Given the description of an element on the screen output the (x, y) to click on. 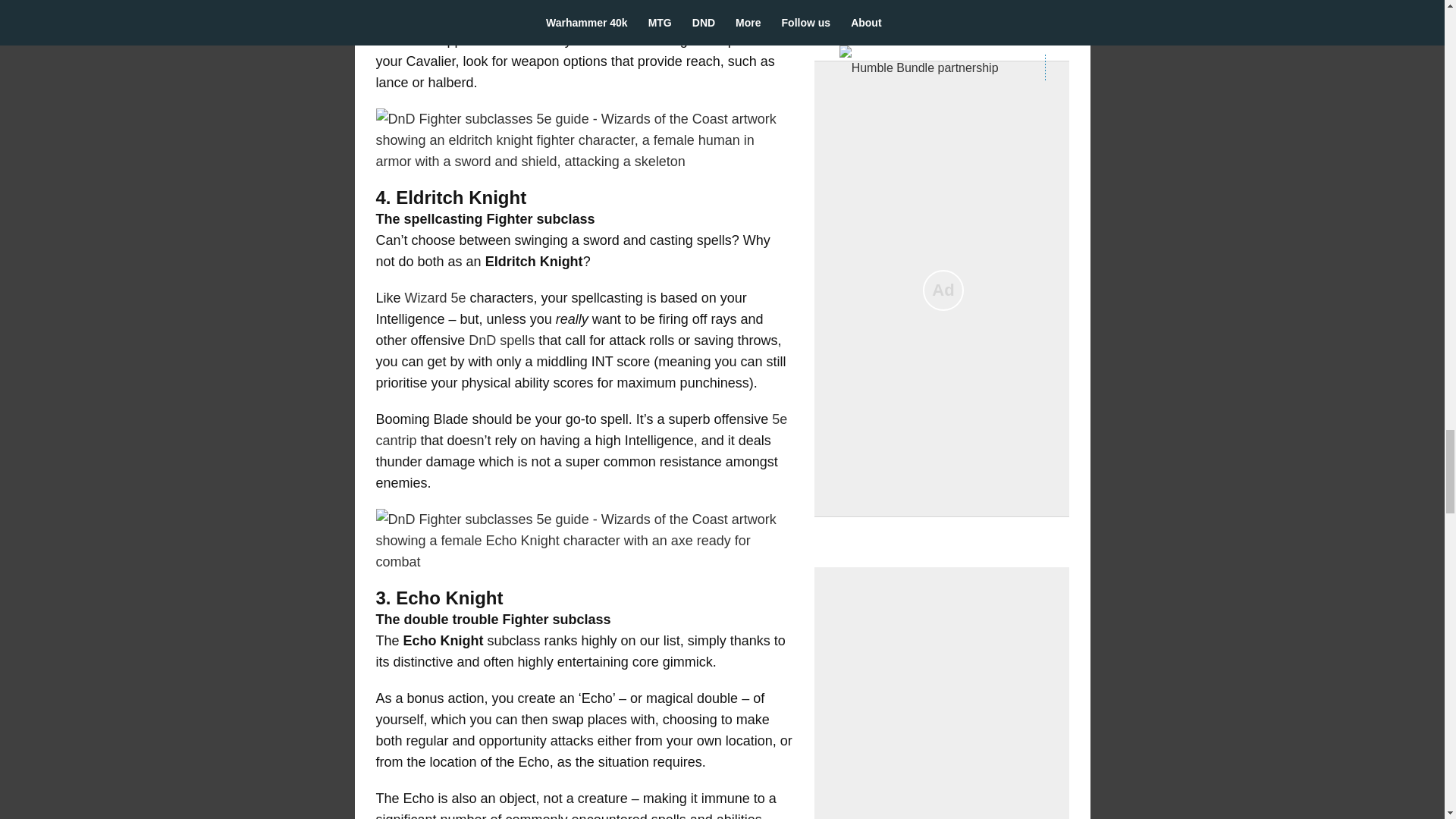
dnd-fighter-subclasses-eldritch-knight-shield (584, 139)
dnd-fighter-subclasses-echo-knight-axe (584, 540)
